Given the description of an element on the screen output the (x, y) to click on. 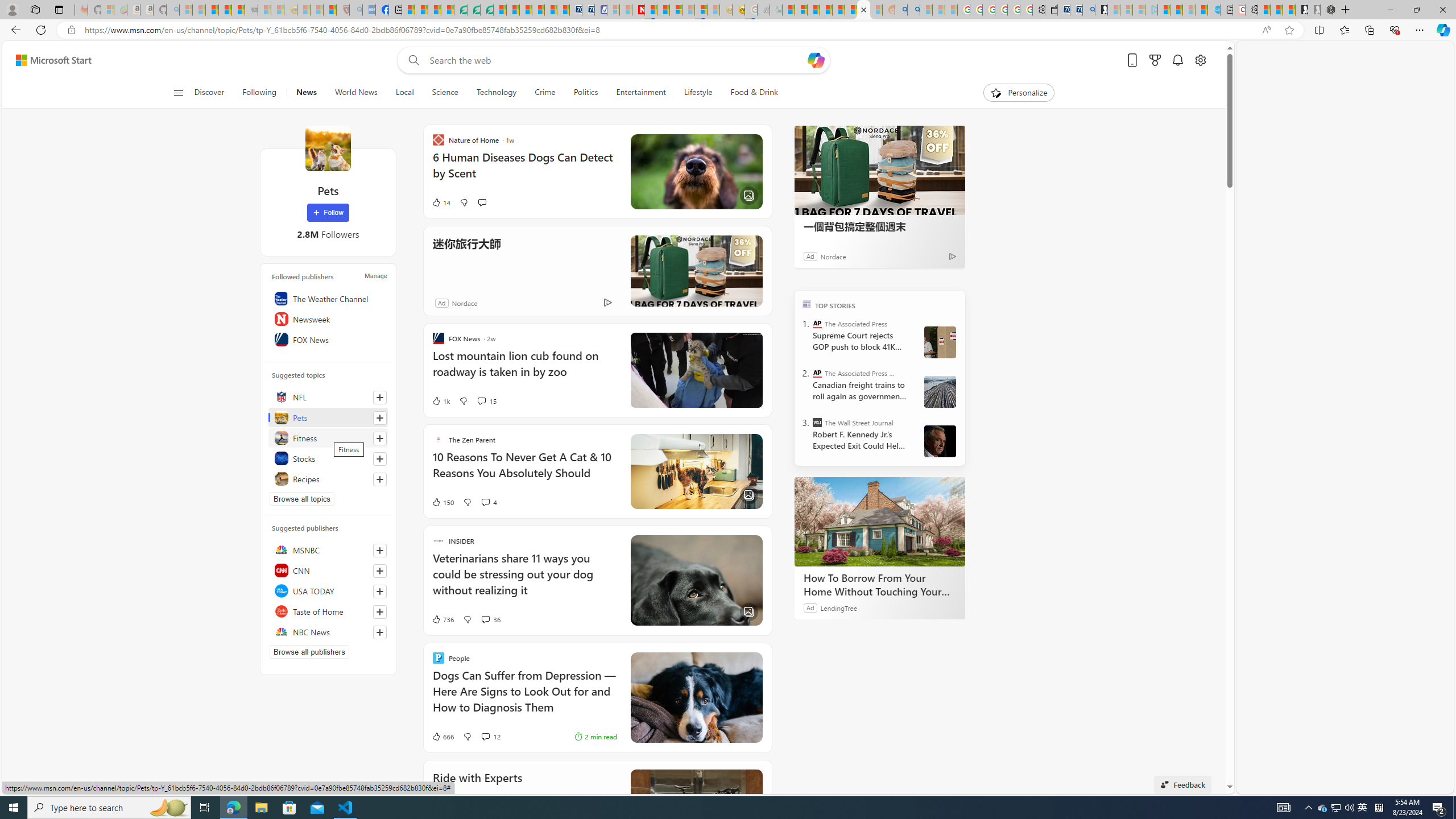
Home | Sky Blue Bikes - Sky Blue Bikes (1213, 9)
Lifestyle (697, 92)
Lifestyle (698, 92)
Discover (213, 92)
Workspaces (34, 9)
14 Like (440, 202)
FOX News (327, 339)
Crime (545, 92)
Navy Quest (763, 9)
Open navigation menu (177, 92)
Entertainment (640, 92)
